Given the description of an element on the screen output the (x, y) to click on. 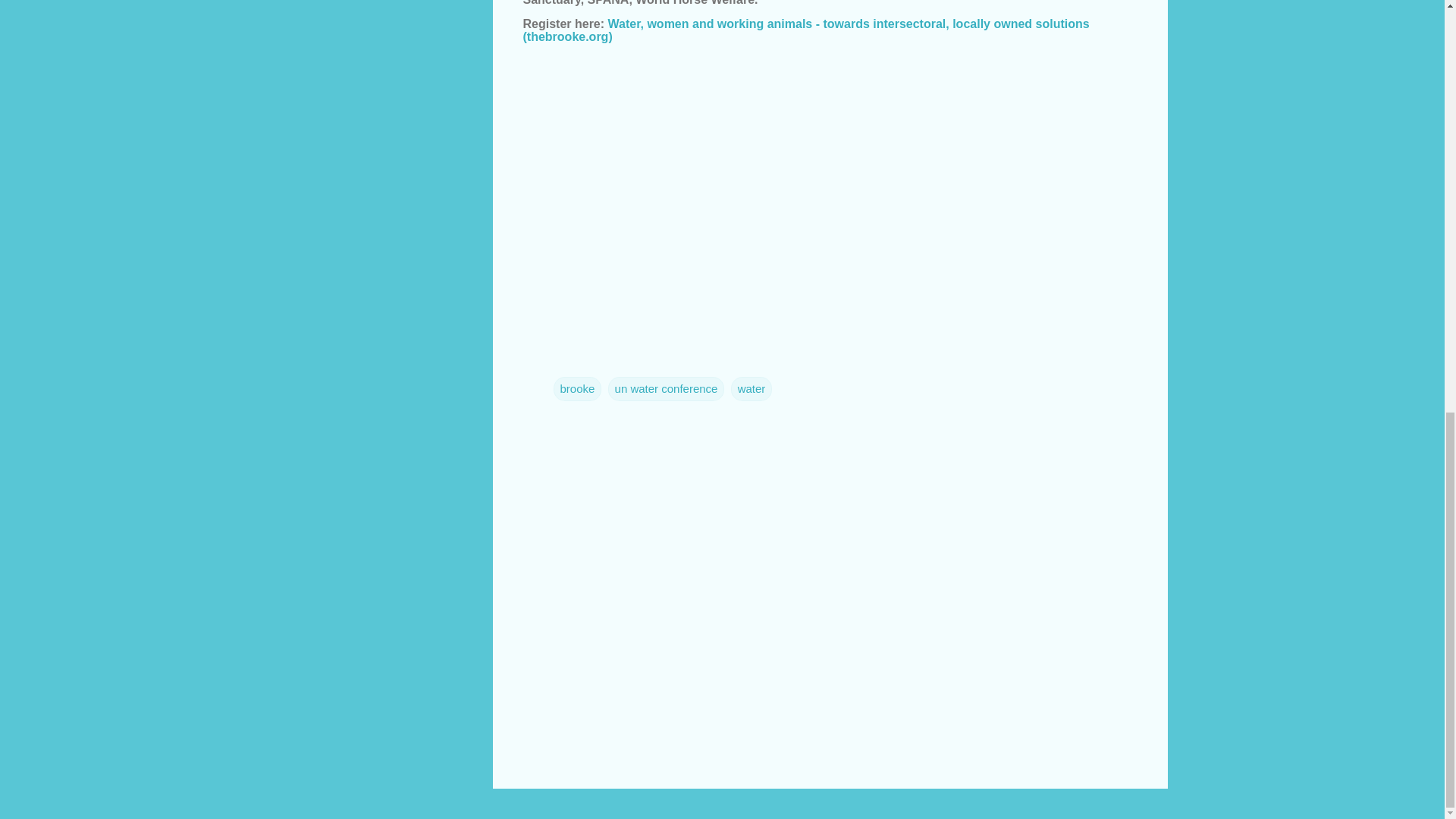
brooke (577, 388)
water (751, 388)
un water conference (666, 388)
